Given the description of an element on the screen output the (x, y) to click on. 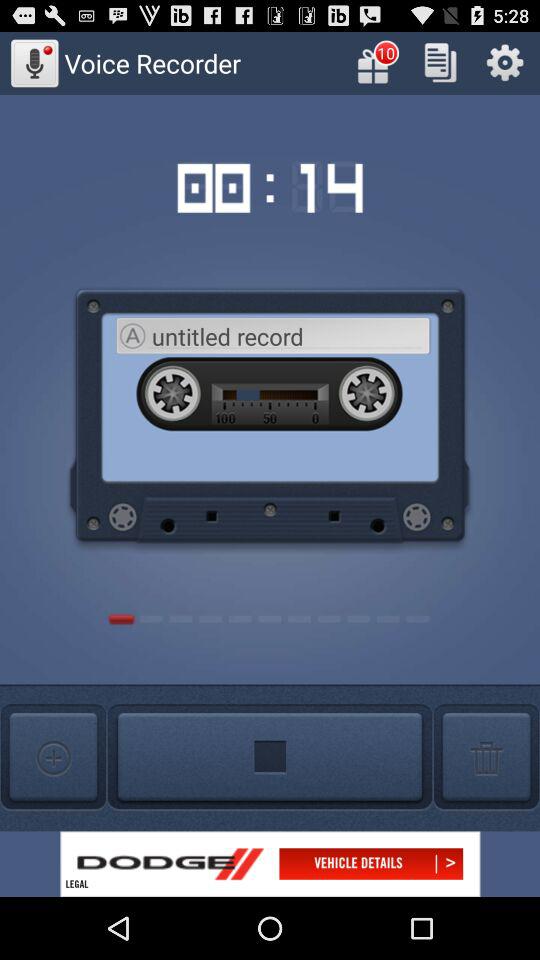
select the image below the timer (269, 410)
select the text which is below the 0014 (289, 336)
select stop button which is above dodge on the page (269, 757)
select the gift icon on top with indication numeric 10 (376, 62)
go to copy option (439, 62)
